Given the description of an element on the screen output the (x, y) to click on. 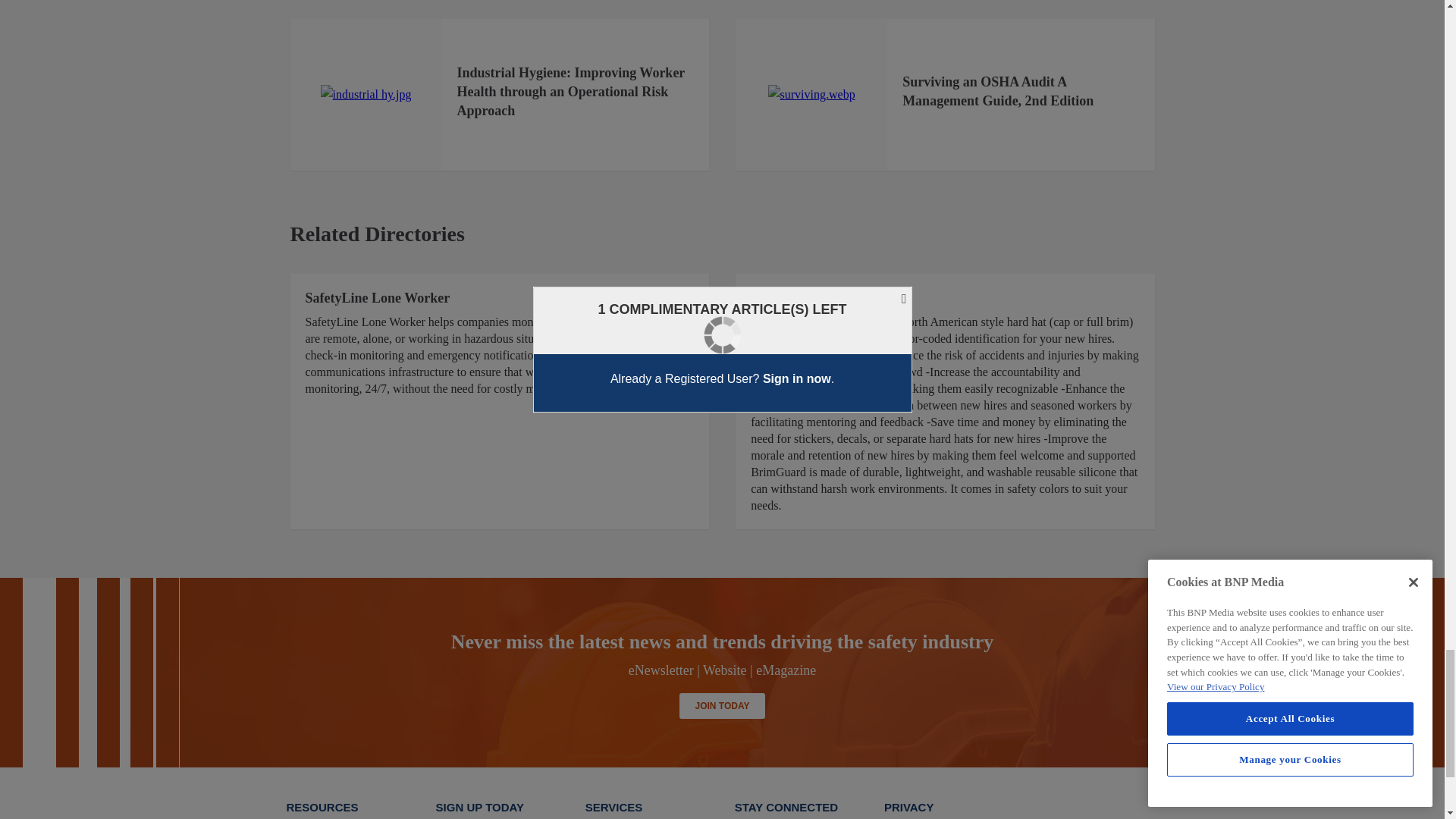
industrial hy.jpg (366, 94)
